Given the description of an element on the screen output the (x, y) to click on. 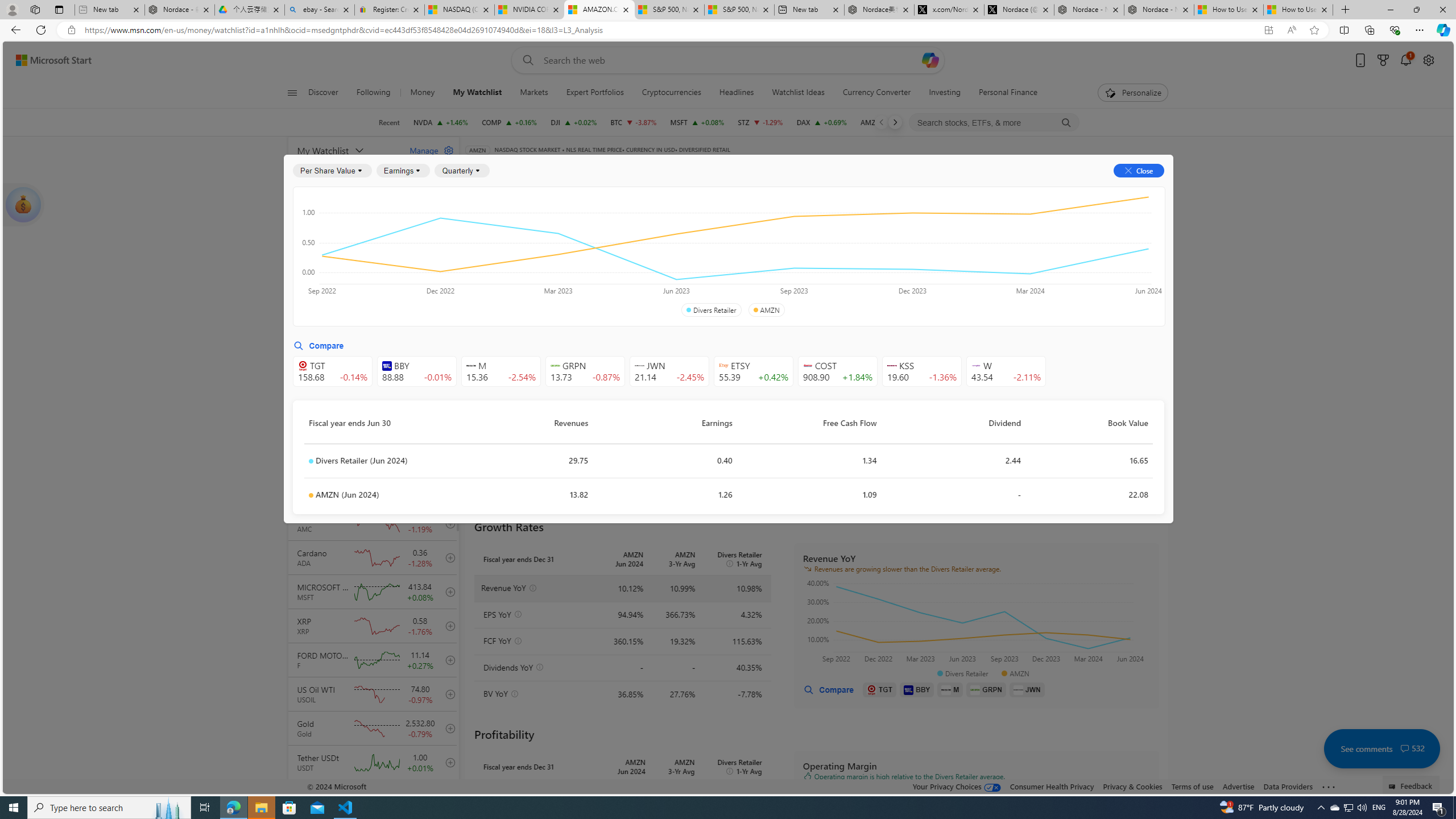
Divers Retailer (711, 310)
Options (1123, 188)
Expert Portfolios (595, 92)
Summary (789, 188)
Earnings (402, 170)
